Given the description of an element on the screen output the (x, y) to click on. 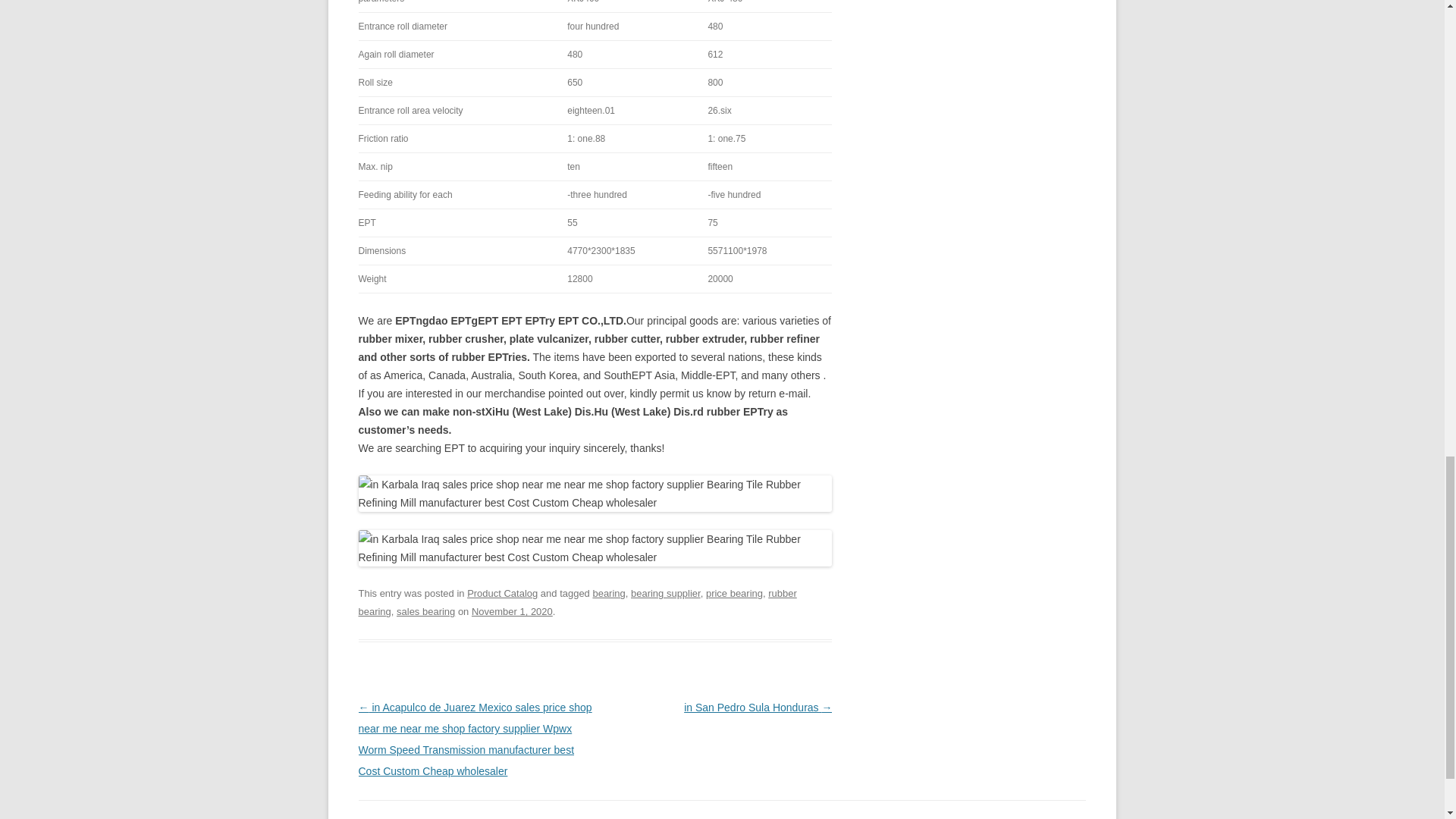
rubber bearing (577, 602)
bearing supplier (665, 593)
10:23 pm (512, 611)
price bearing (734, 593)
Product Catalog (502, 593)
November 1, 2020 (512, 611)
sales bearing (425, 611)
bearing (608, 593)
